Given the description of an element on the screen output the (x, y) to click on. 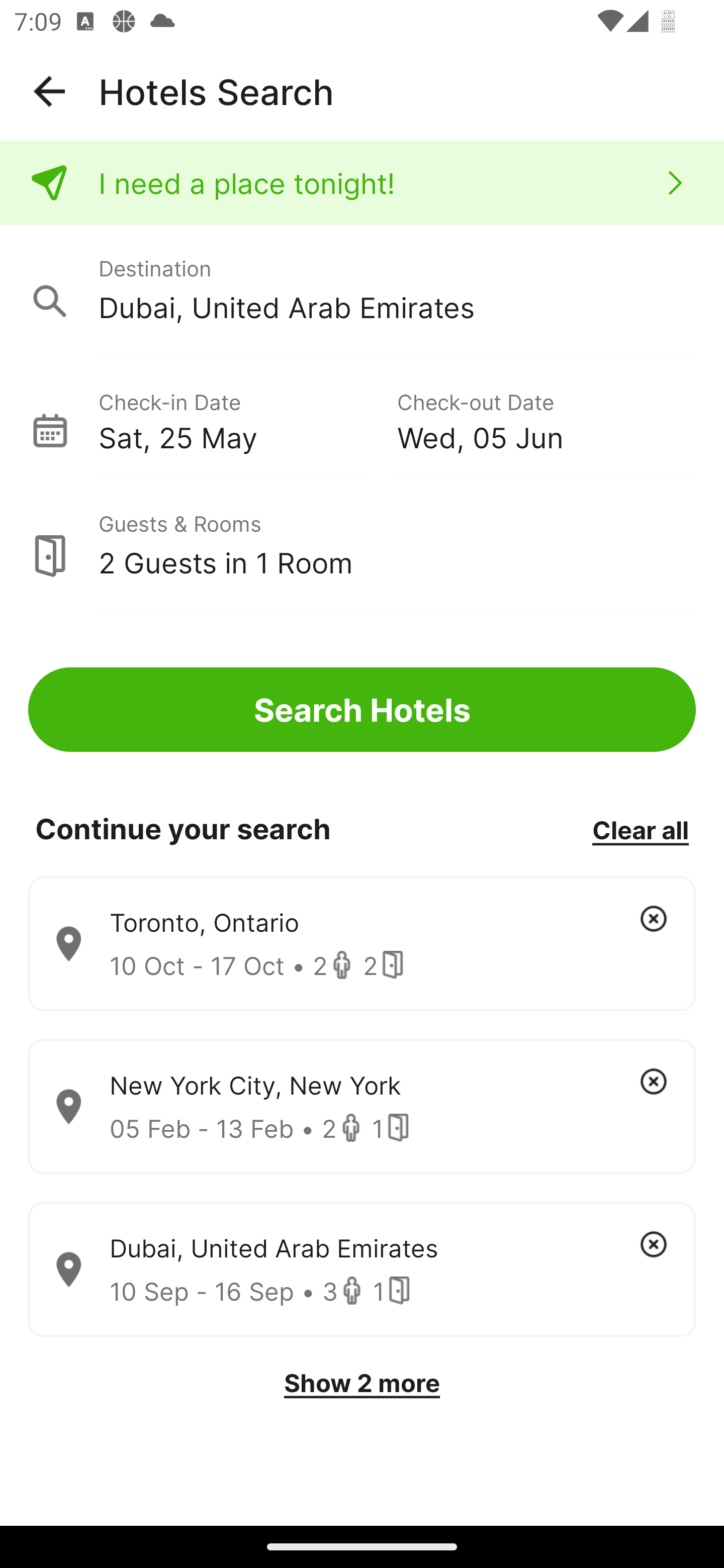
I need a place tonight! (362, 183)
Destination Dubai, United Arab Emirates (362, 290)
Check-in Date Sat, 25 May (247, 418)
Check-out Date Wed, 05 Jun (546, 418)
Guests & Rooms 2 Guests in 1 Room (362, 545)
Search Hotels (361, 709)
Clear all (640, 829)
Toronto, Ontario 10 Oct - 17 Oct • 2  2  (361, 943)
New York City, New York 05 Feb - 13 Feb • 2  1  (361, 1106)
Show 2 more (362, 1382)
